Given the description of an element on the screen output the (x, y) to click on. 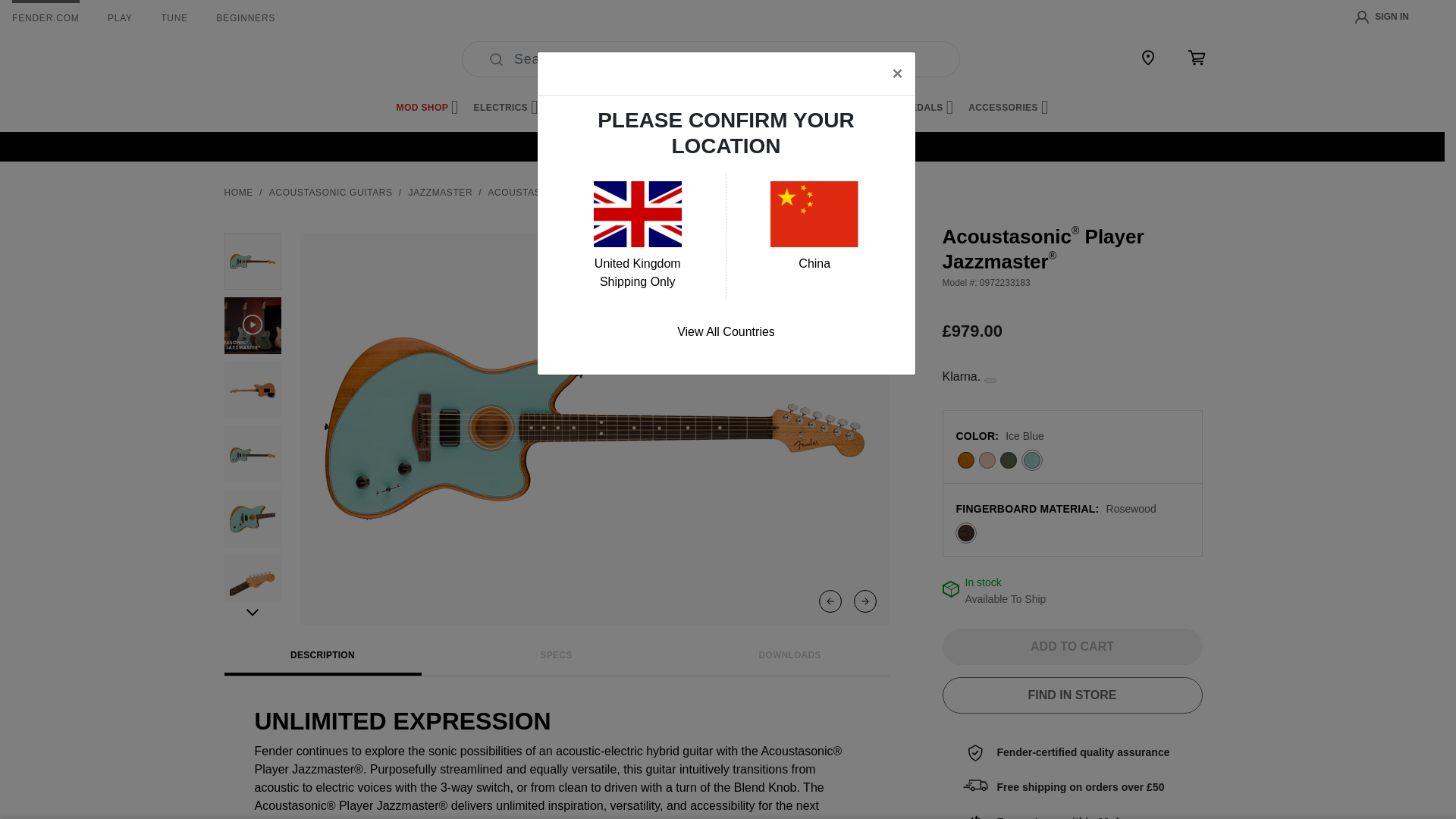
MOD SHOP (427, 107)
ELECTRICS (506, 107)
PLAY (119, 18)
SIGN IN (1382, 17)
TUNE (173, 18)
Fender Home (261, 58)
BEGINNERS (245, 18)
FENDER.COM (45, 18)
